Given the description of an element on the screen output the (x, y) to click on. 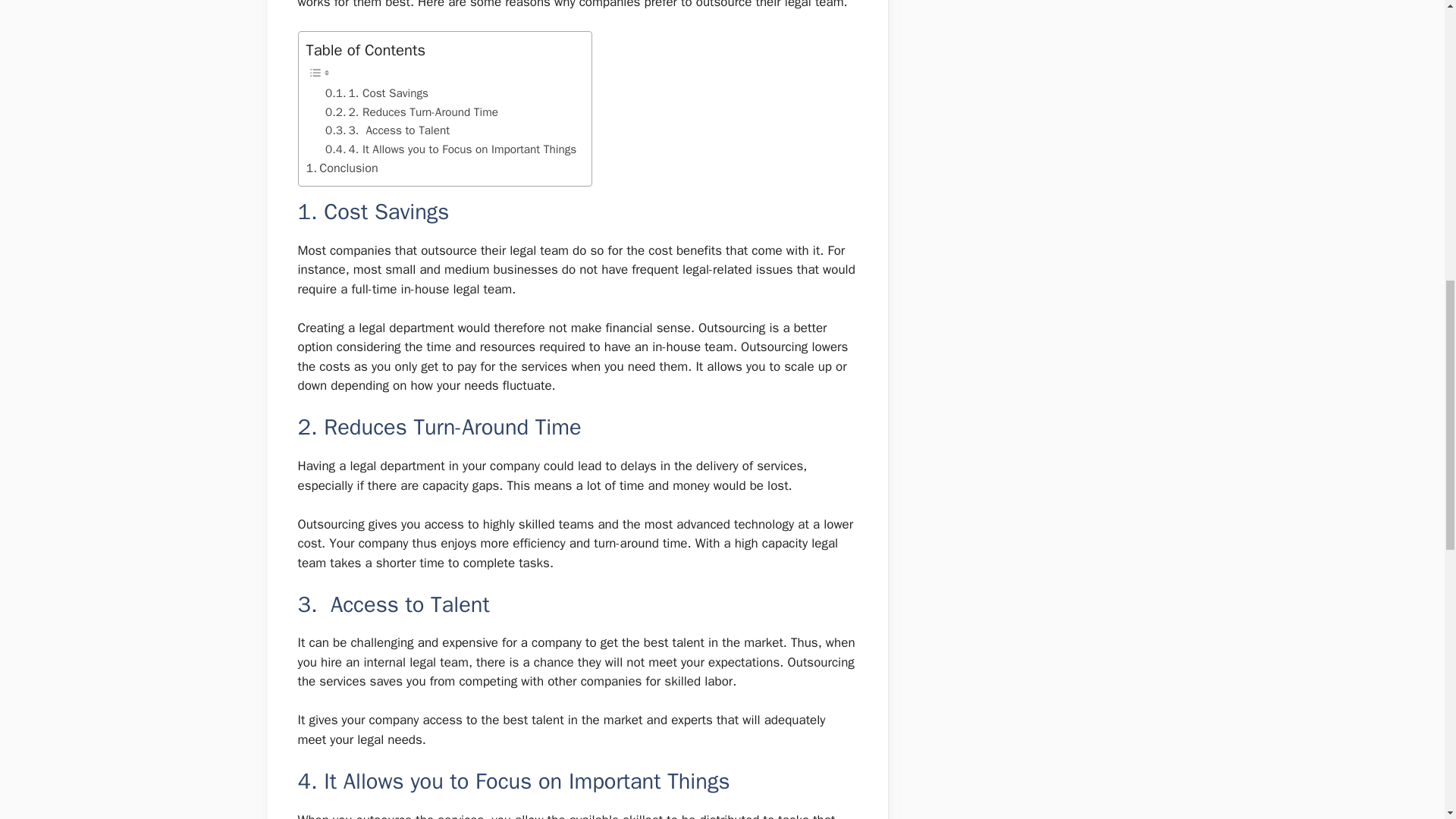
Conclusion (341, 168)
2. Reduces Turn-Around Time (410, 112)
1. Cost Savings (376, 93)
1. Cost Savings (376, 93)
2. Reduces Turn-Around Time (410, 112)
Conclusion (341, 168)
4. It Allows you to Focus on Important Things (450, 149)
Scroll back to top (1406, 720)
3.  Access to Talent (386, 130)
